Given the description of an element on the screen output the (x, y) to click on. 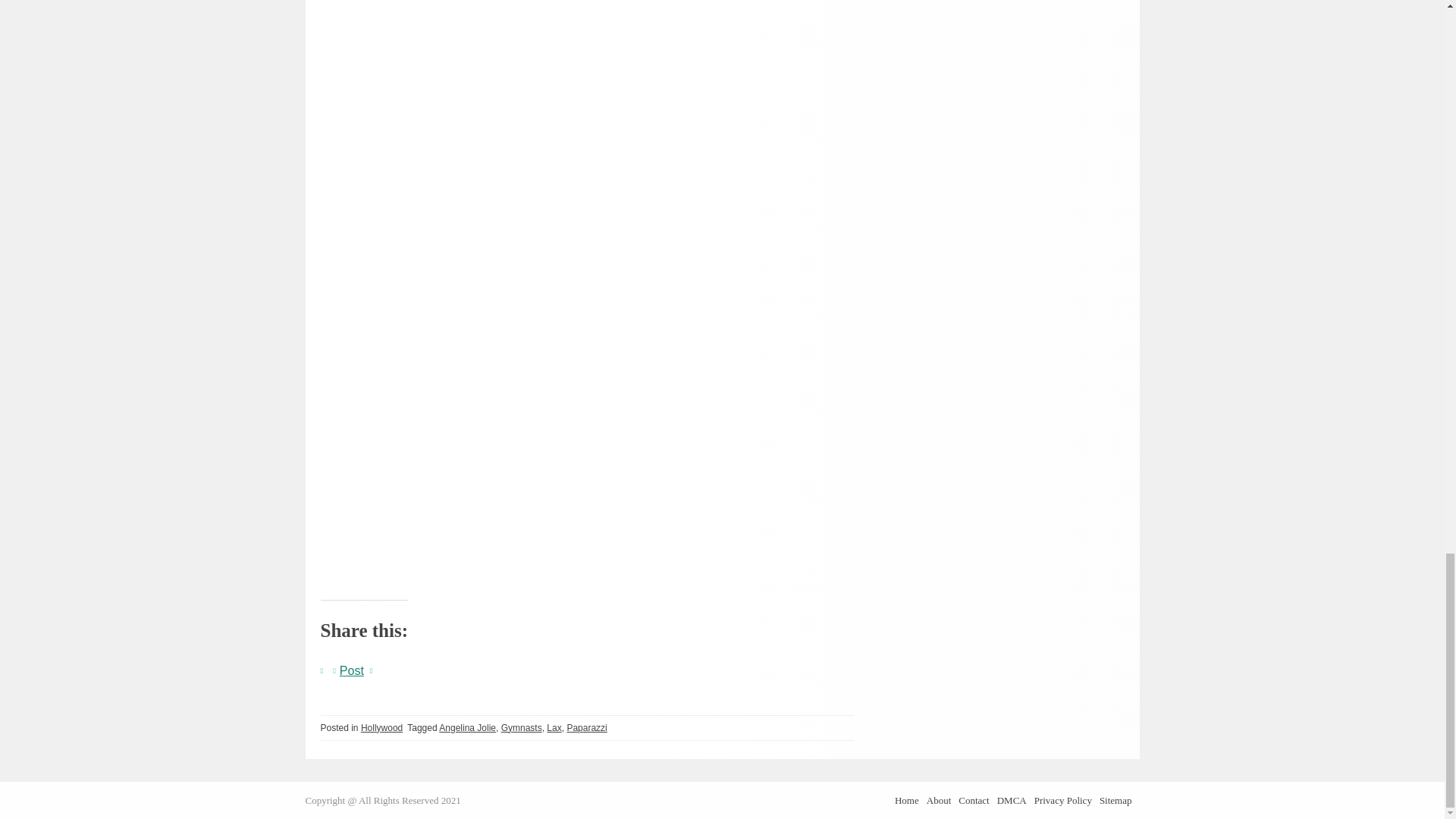
Gymnasts (520, 726)
Lax (553, 726)
Paparazzi (586, 726)
DMCA (1011, 800)
Privacy Policy (1062, 800)
Hollywood (382, 726)
Angelina Jolie (467, 726)
Contact (973, 800)
About (939, 800)
Post (351, 667)
Home (906, 800)
